Given the description of an element on the screen output the (x, y) to click on. 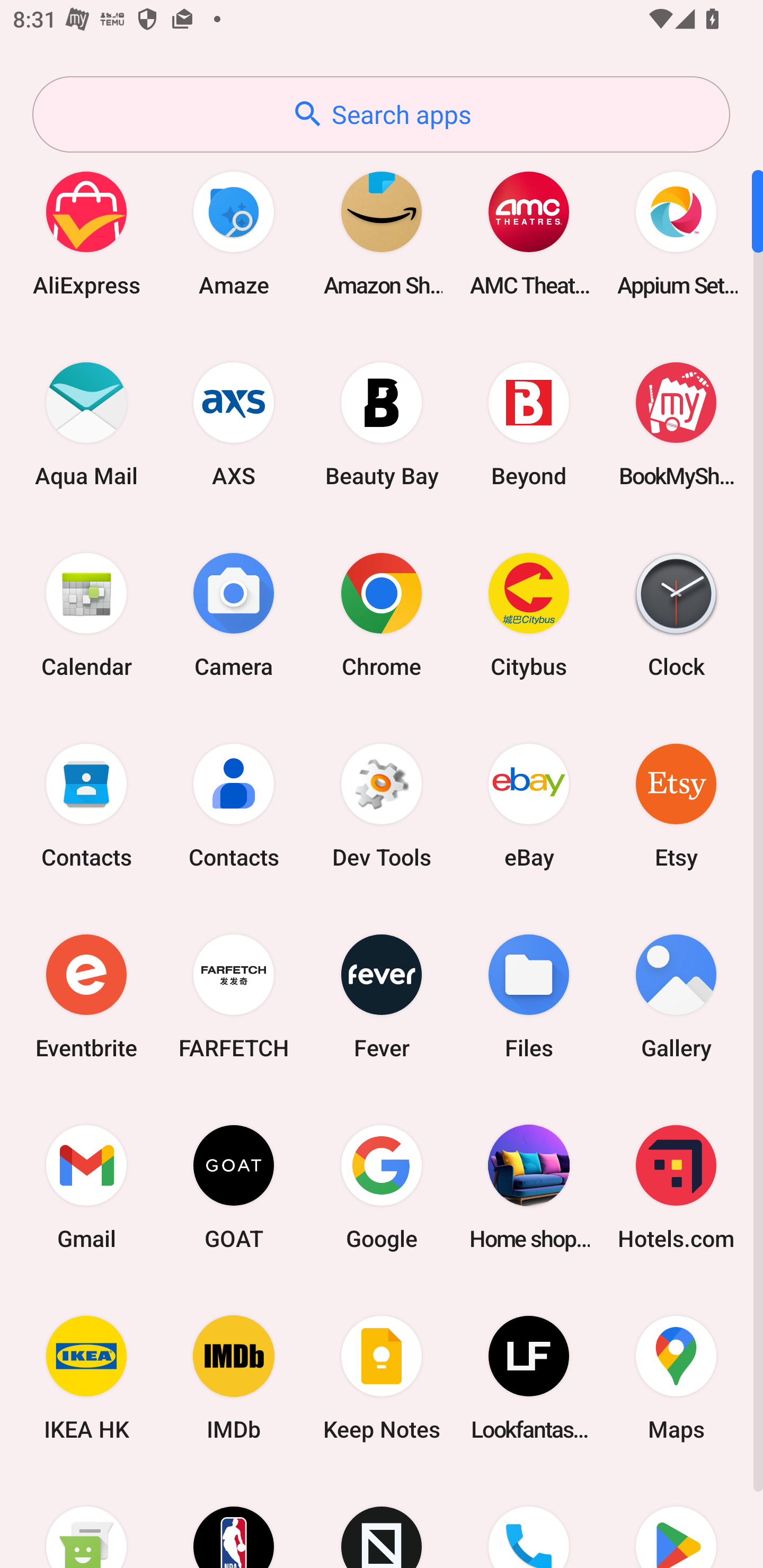
  Search apps (381, 114)
AliExpress (86, 233)
Amaze (233, 233)
Amazon Shopping (381, 233)
AMC Theatres (528, 233)
Appium Settings (676, 233)
Aqua Mail (86, 424)
AXS (233, 424)
Beauty Bay (381, 424)
Beyond (528, 424)
BookMyShow (676, 424)
Calendar (86, 614)
Camera (233, 614)
Chrome (381, 614)
Citybus (528, 614)
Clock (676, 614)
Contacts (86, 805)
Contacts (233, 805)
Dev Tools (381, 805)
eBay (528, 805)
Etsy (676, 805)
Eventbrite (86, 996)
FARFETCH (233, 996)
Fever (381, 996)
Files (528, 996)
Gallery (676, 996)
Gmail (86, 1186)
GOAT (233, 1186)
Google (381, 1186)
Home shopping (528, 1186)
Hotels.com (676, 1186)
IKEA HK (86, 1377)
IMDb (233, 1377)
Keep Notes (381, 1377)
Lookfantastic (528, 1377)
Maps (676, 1377)
Messaging (86, 1520)
NBA (233, 1520)
Novelship (381, 1520)
Phone (528, 1520)
Play Store (676, 1520)
